Given the description of an element on the screen output the (x, y) to click on. 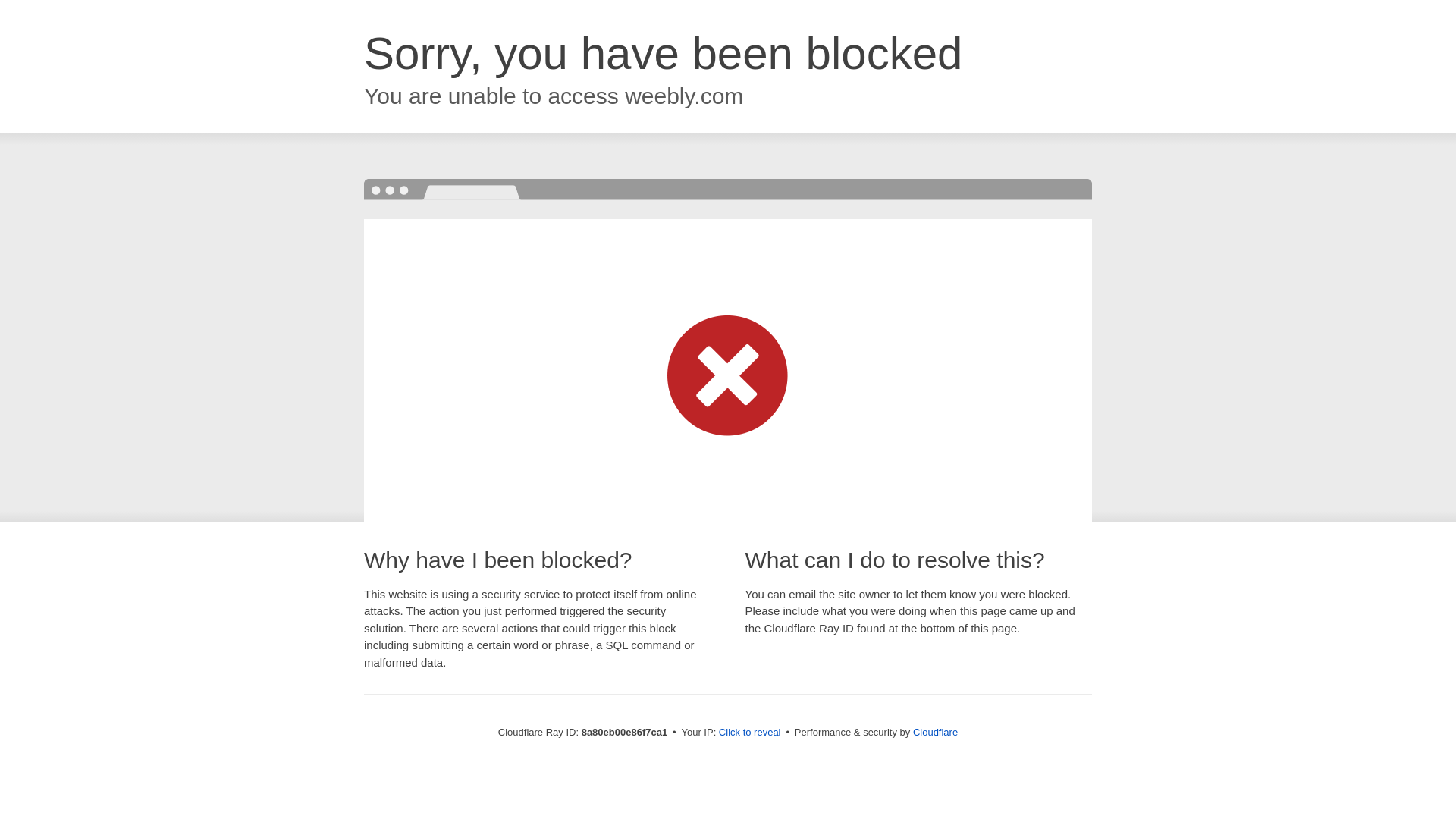
Cloudflare (935, 731)
Click to reveal (749, 732)
